Given the description of an element on the screen output the (x, y) to click on. 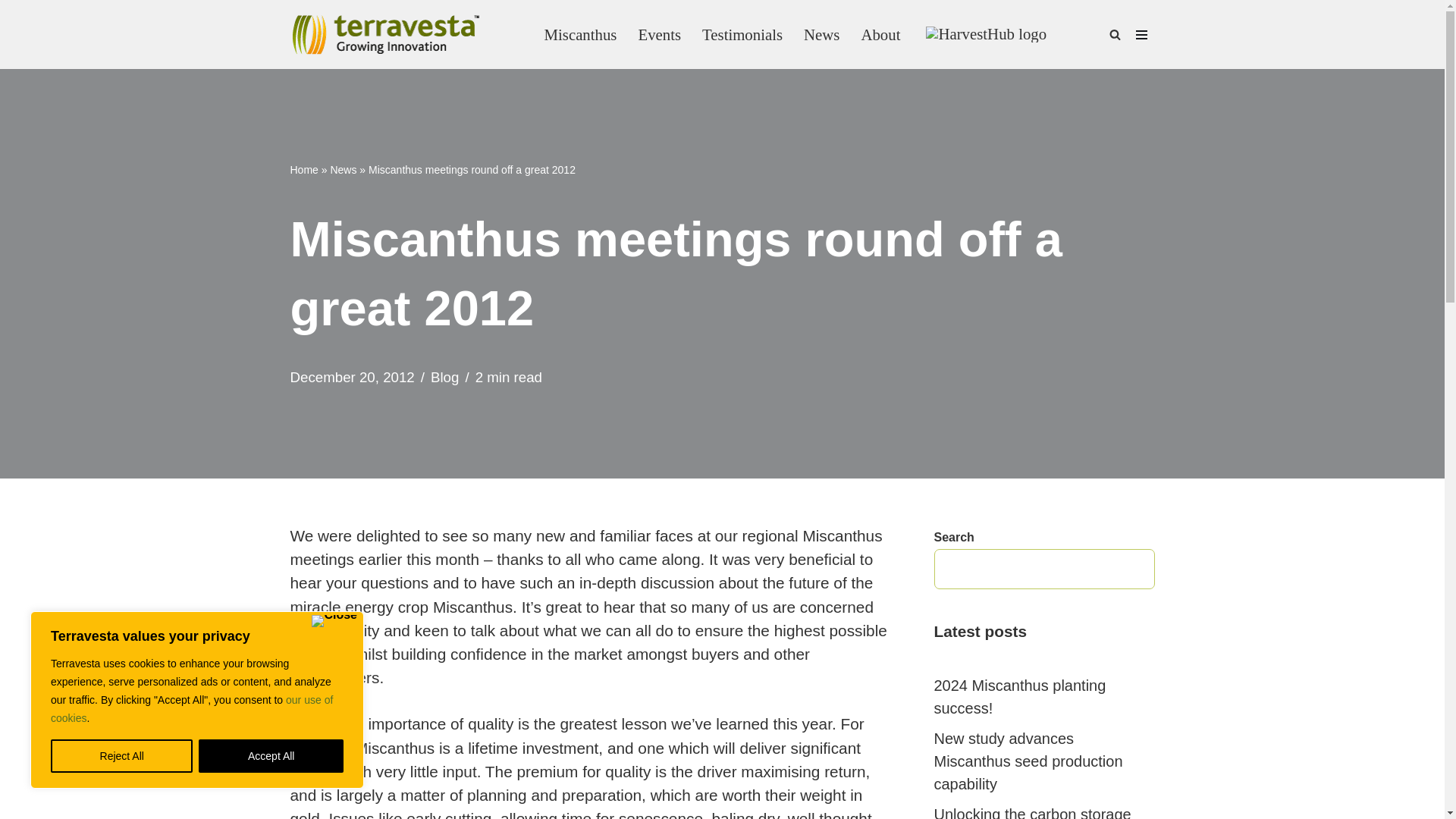
Reject All (121, 756)
About (879, 33)
our use of cookies (191, 708)
Navigation Menu (1141, 34)
Accept All (270, 756)
Miscanthus (580, 33)
News (821, 33)
Skip to content (11, 31)
Events (659, 33)
Testimonials (742, 33)
